Given the description of an element on the screen output the (x, y) to click on. 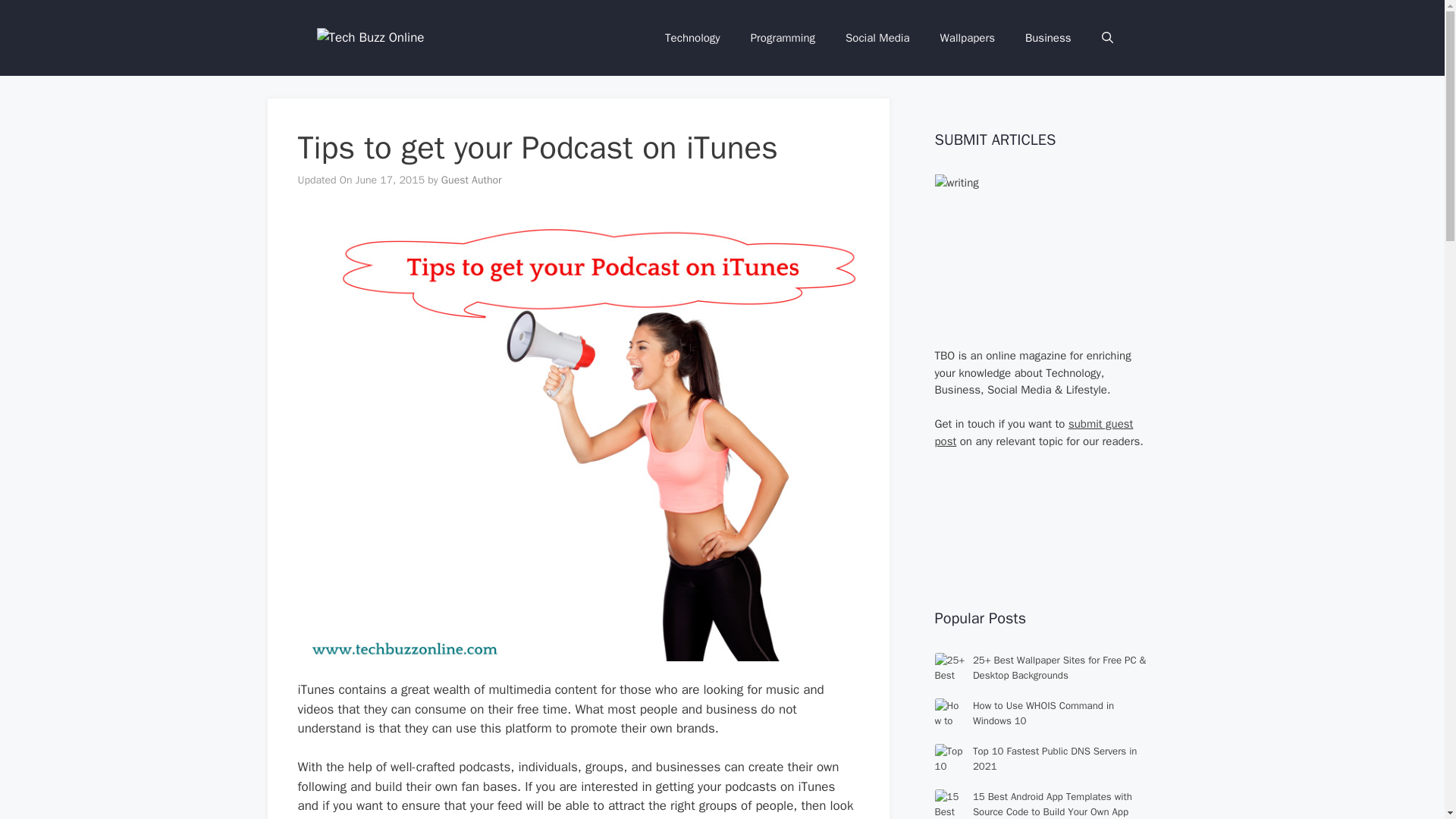
How to Use WHOIS Command in Windows 10 (1042, 713)
Guest Author (471, 179)
View all posts by Guest Author (471, 179)
Social Media (876, 37)
Programming (782, 37)
Technology (692, 37)
submit guest post (1033, 431)
Top 10 Fastest Public DNS Servers in 2021 (1054, 758)
